Given the description of an element on the screen output the (x, y) to click on. 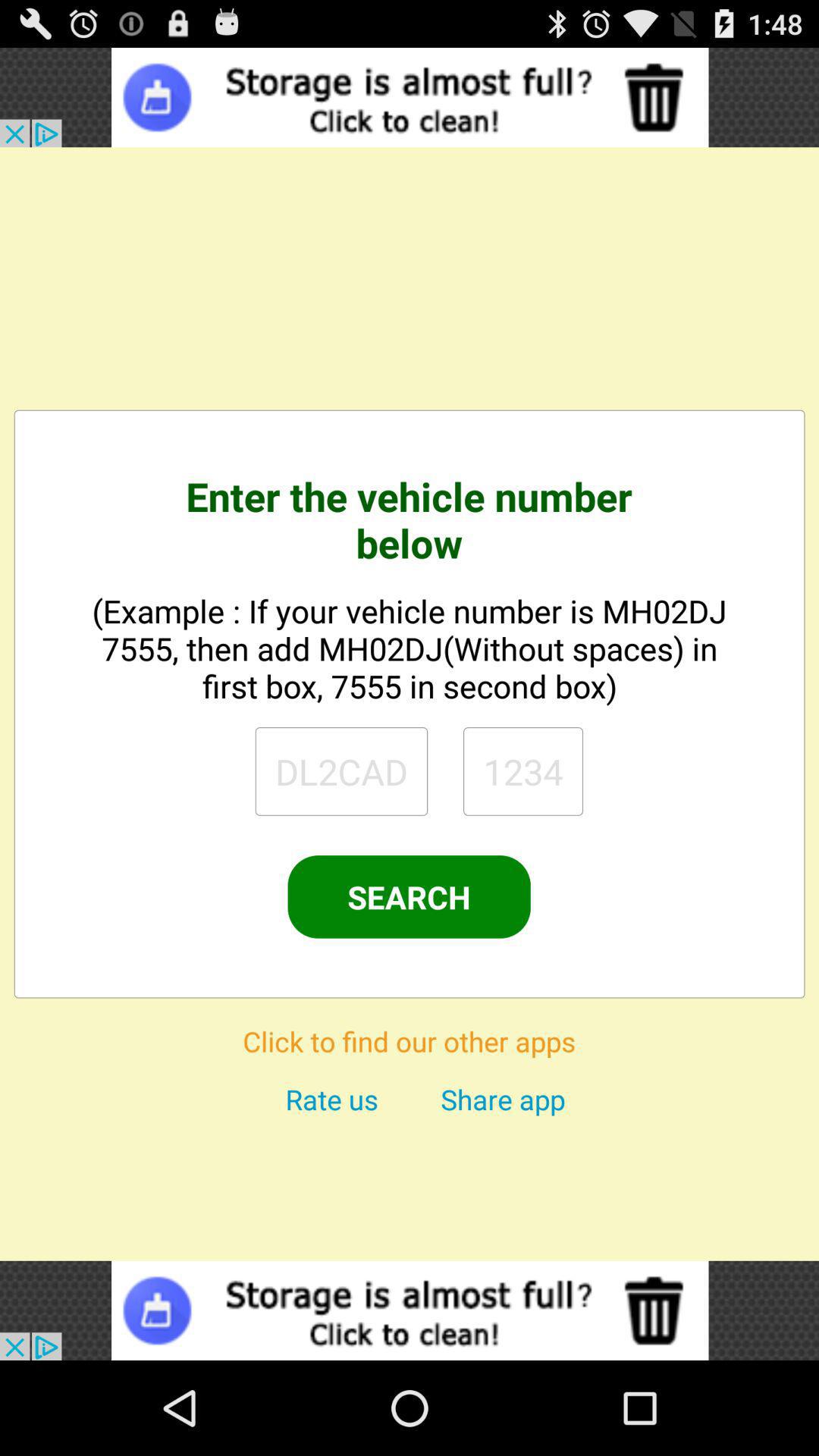
new pega (341, 771)
